Given the description of an element on the screen output the (x, y) to click on. 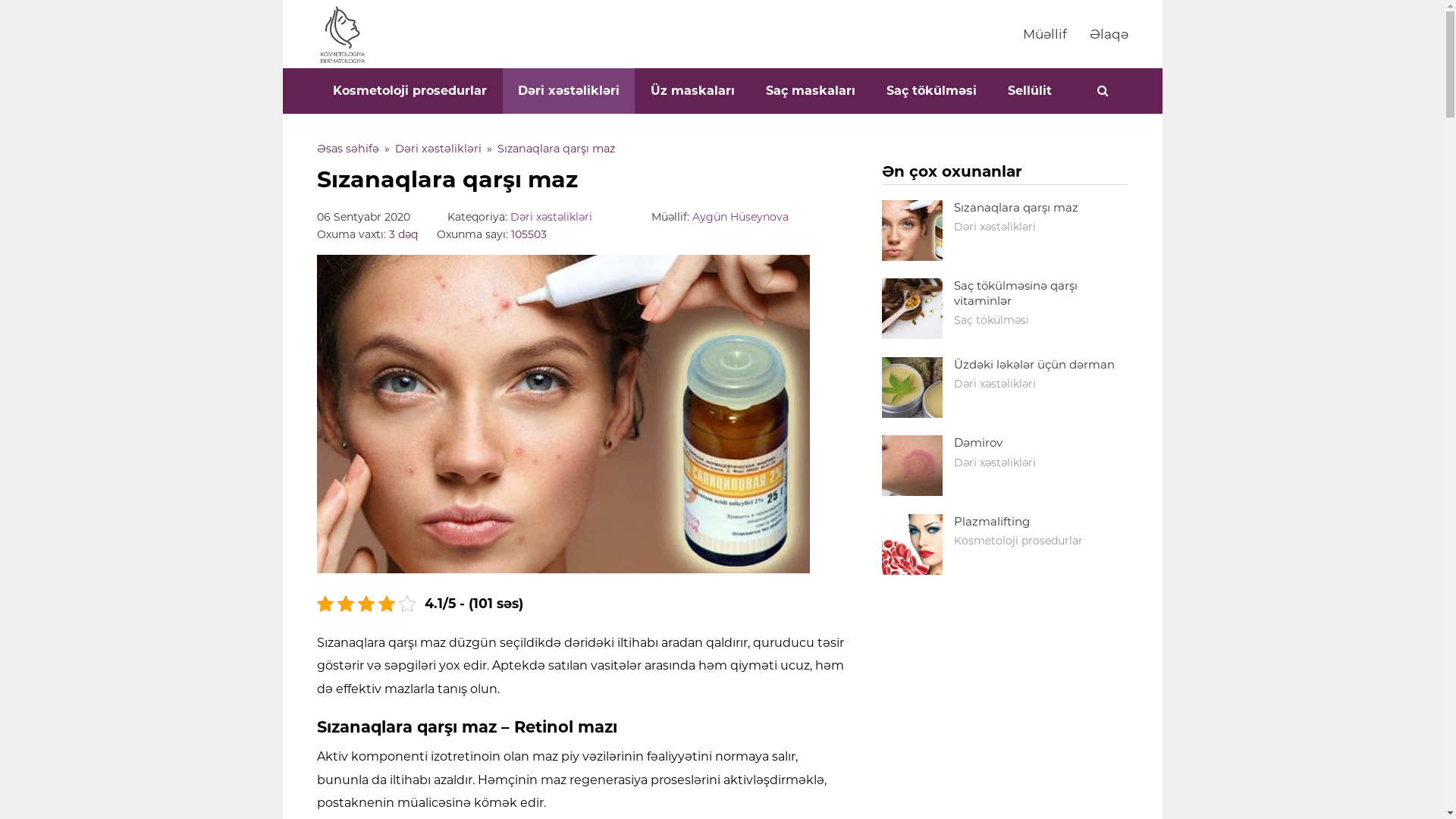
Kosmetoloji prosedurlar Element type: text (408, 90)
Plazmalifting
Kosmetoloji prosedurlar Element type: text (1004, 547)
